Given the description of an element on the screen output the (x, y) to click on. 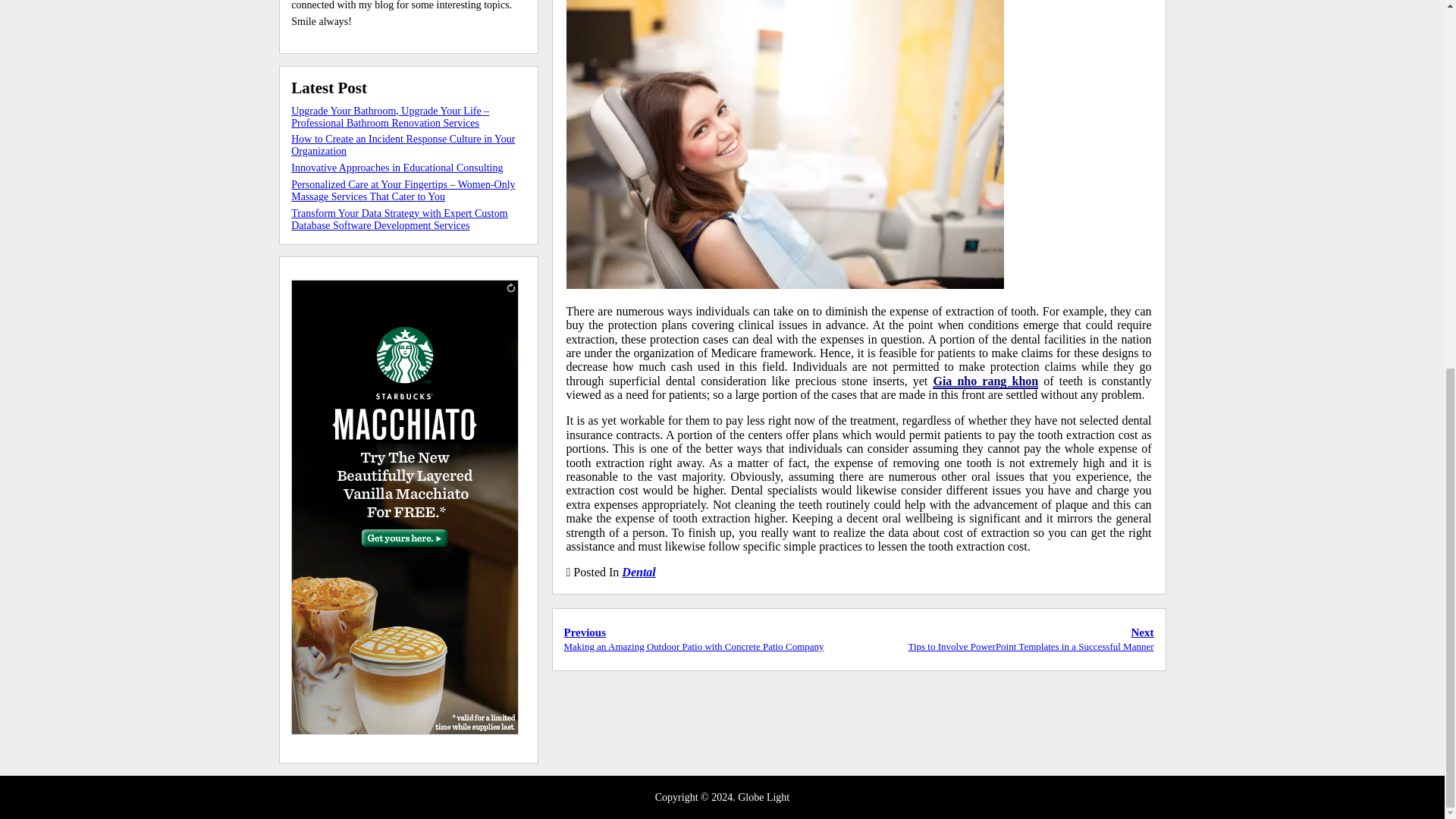
Globe Light (763, 797)
Gia nho rang khon (985, 381)
Innovative Approaches in Educational Consulting (396, 167)
Dental (638, 571)
